Given the description of an element on the screen output the (x, y) to click on. 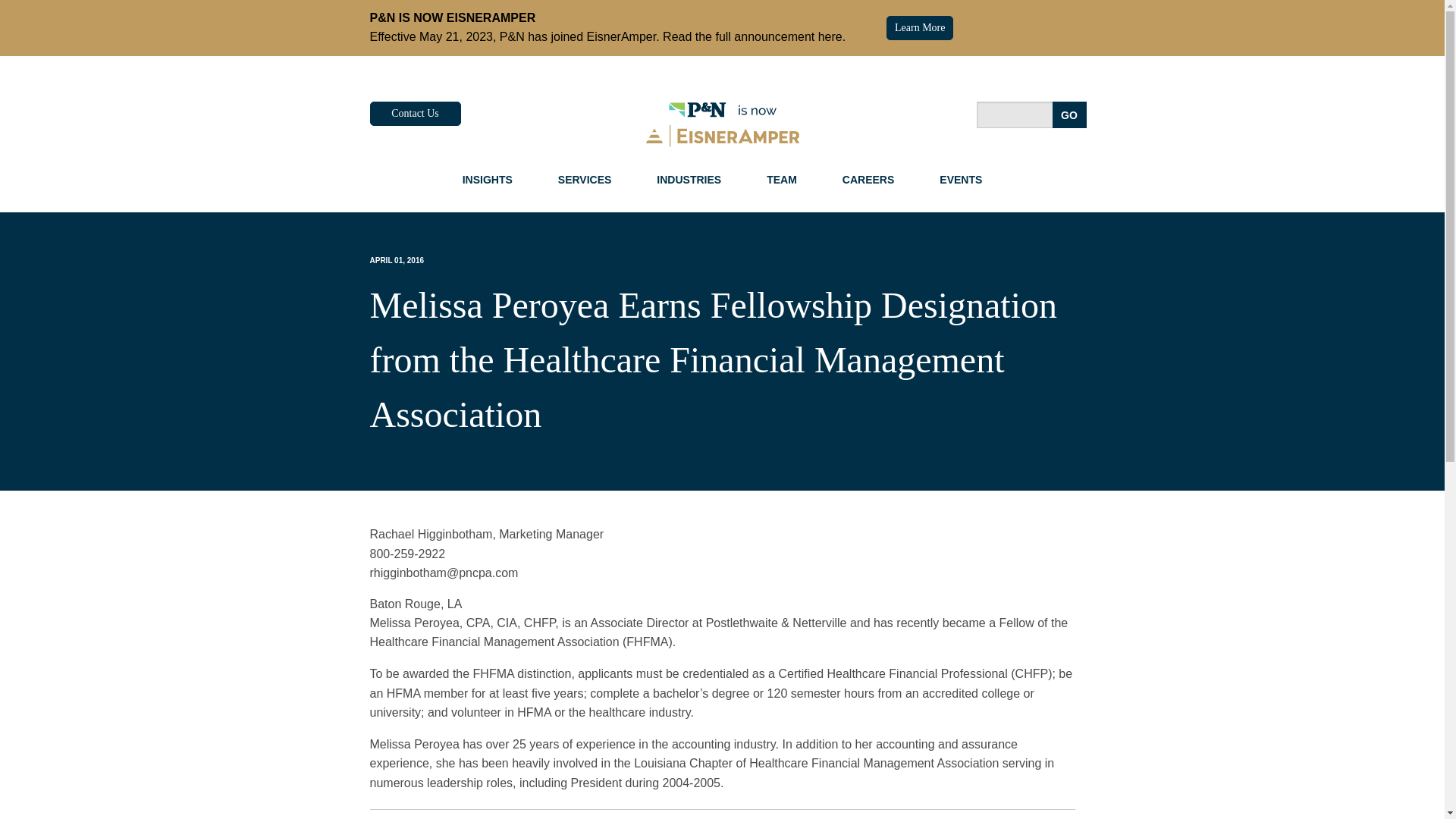
INDUSTRIES (689, 179)
Go (1069, 114)
SERVICES (585, 179)
Learn More (919, 27)
Contact Us (415, 113)
Go (1069, 114)
INSIGHTS (486, 179)
